Given the description of an element on the screen output the (x, y) to click on. 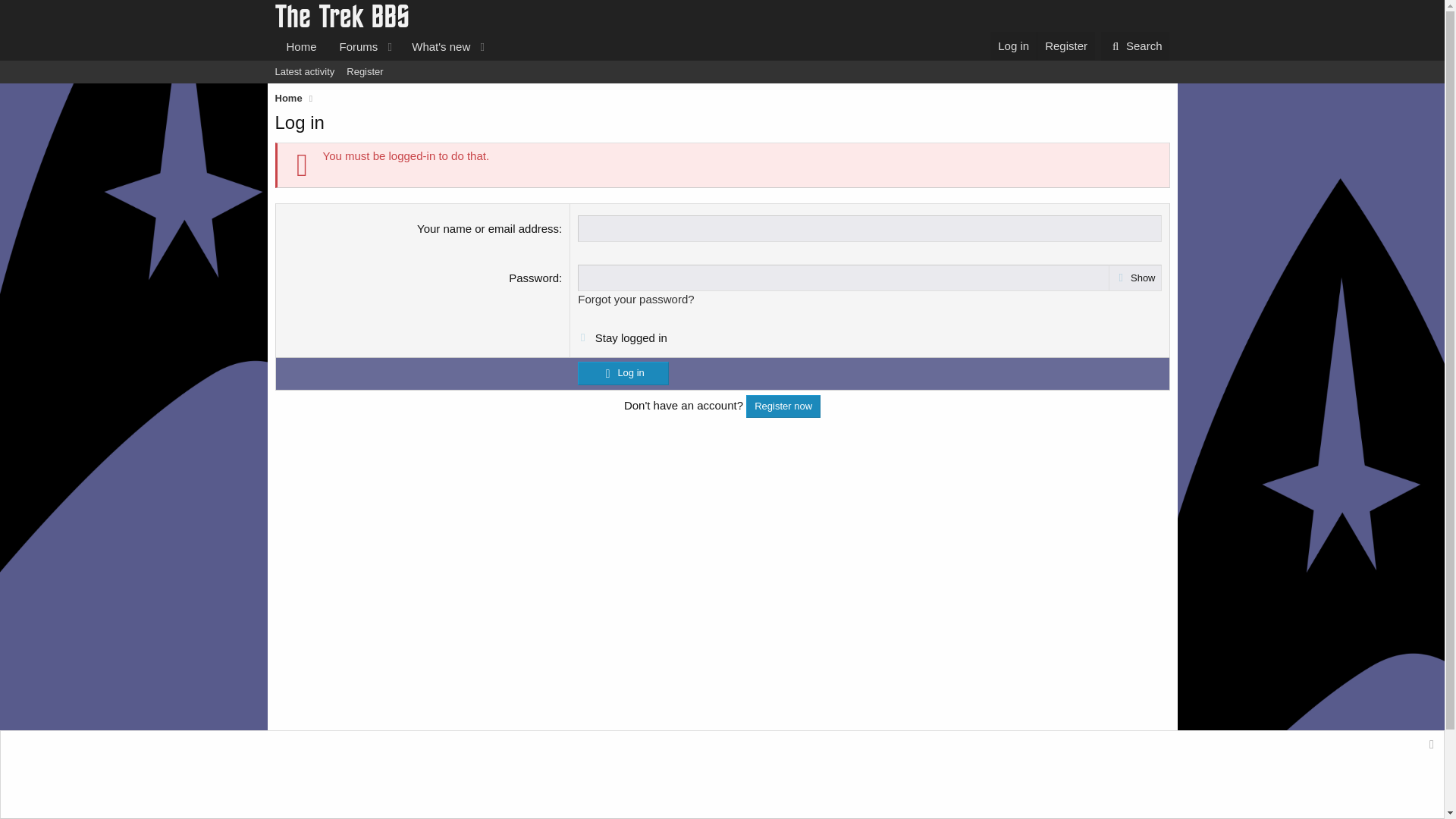
What's new (435, 46)
1 (581, 334)
Home (1131, 776)
RSS (1161, 776)
Help (1096, 776)
Search (1135, 45)
RSS (1161, 776)
Log in (1013, 45)
Log in (623, 372)
Home (301, 46)
